Given the description of an element on the screen output the (x, y) to click on. 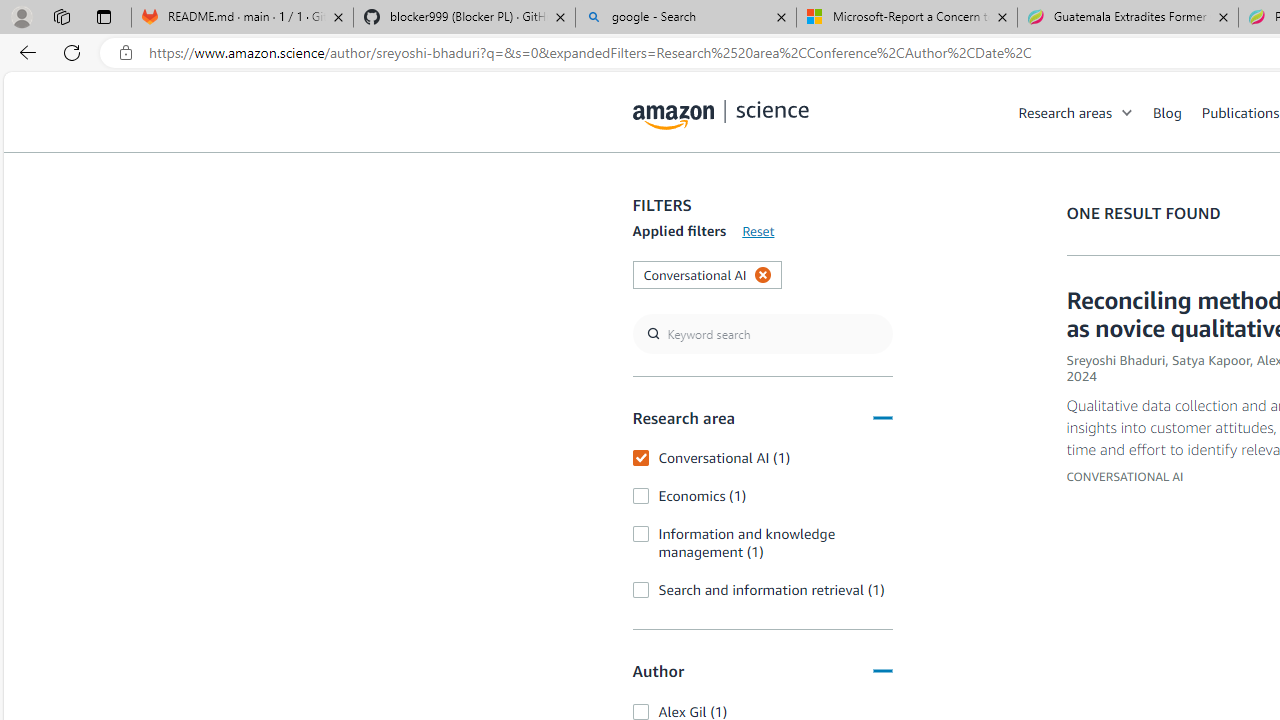
amazon-science-logo.svg (721, 115)
Class: chevron (1128, 116)
